Given the description of an element on the screen output the (x, y) to click on. 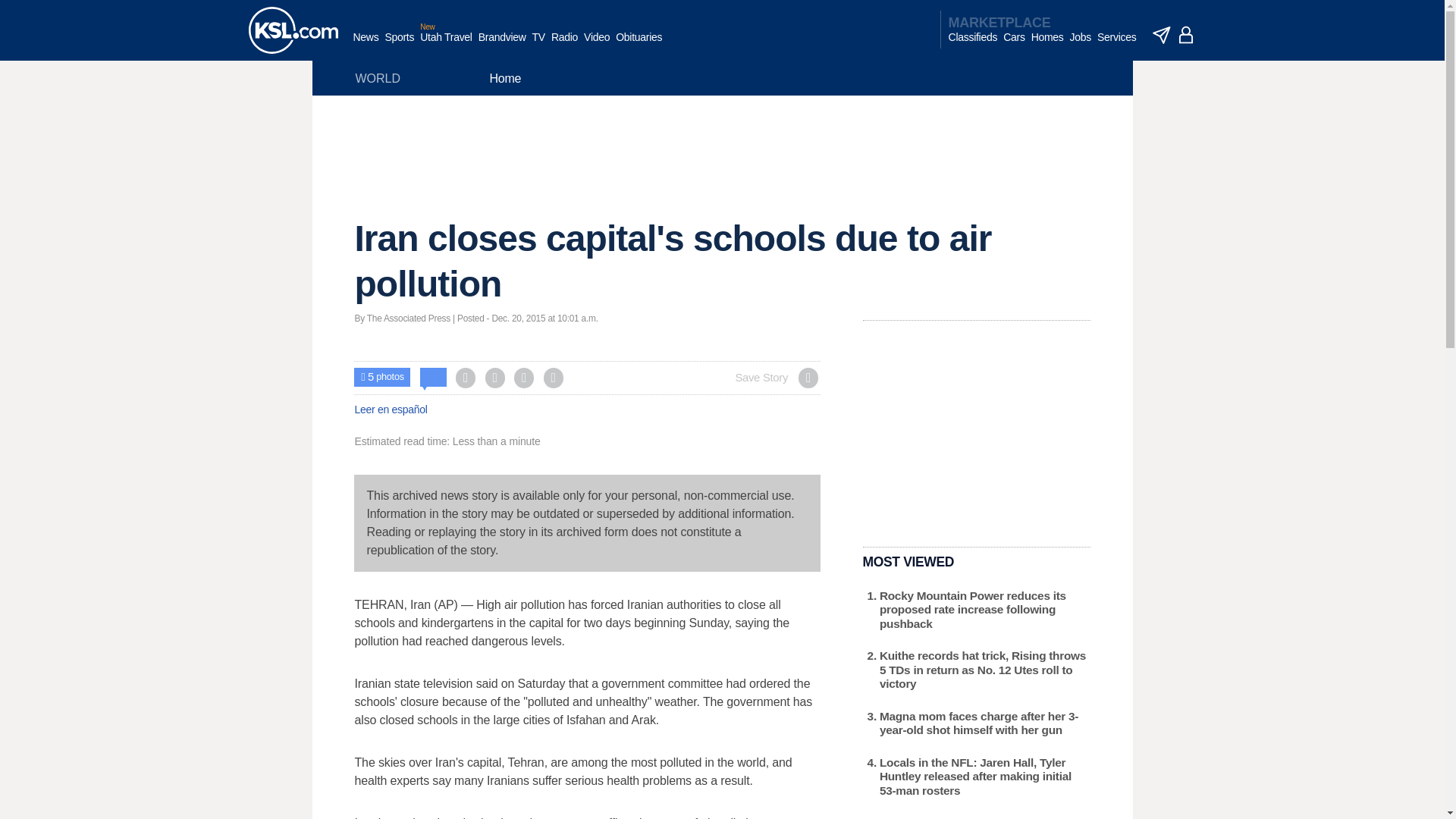
Utah Travel (445, 45)
account - logged out (1185, 34)
Sports (398, 45)
KSL homepage (292, 30)
KSL homepage (292, 29)
Brandview (502, 45)
